Given the description of an element on the screen output the (x, y) to click on. 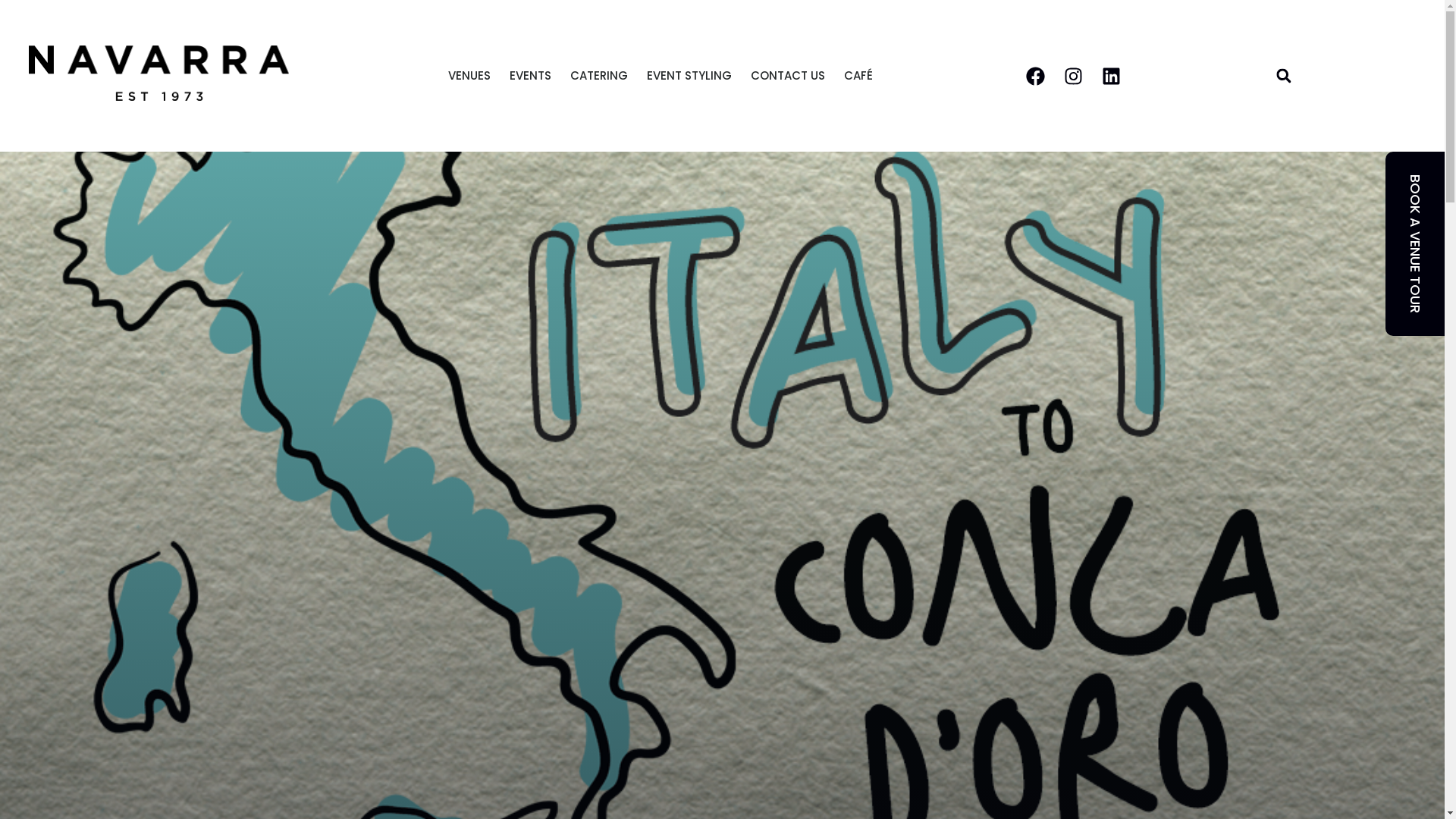
EVENTS Element type: text (530, 75)
CONTACT US Element type: text (787, 75)
EVENT STYLING Element type: text (689, 75)
CATERING Element type: text (598, 75)
VENUES Element type: text (469, 75)
